Given the description of an element on the screen output the (x, y) to click on. 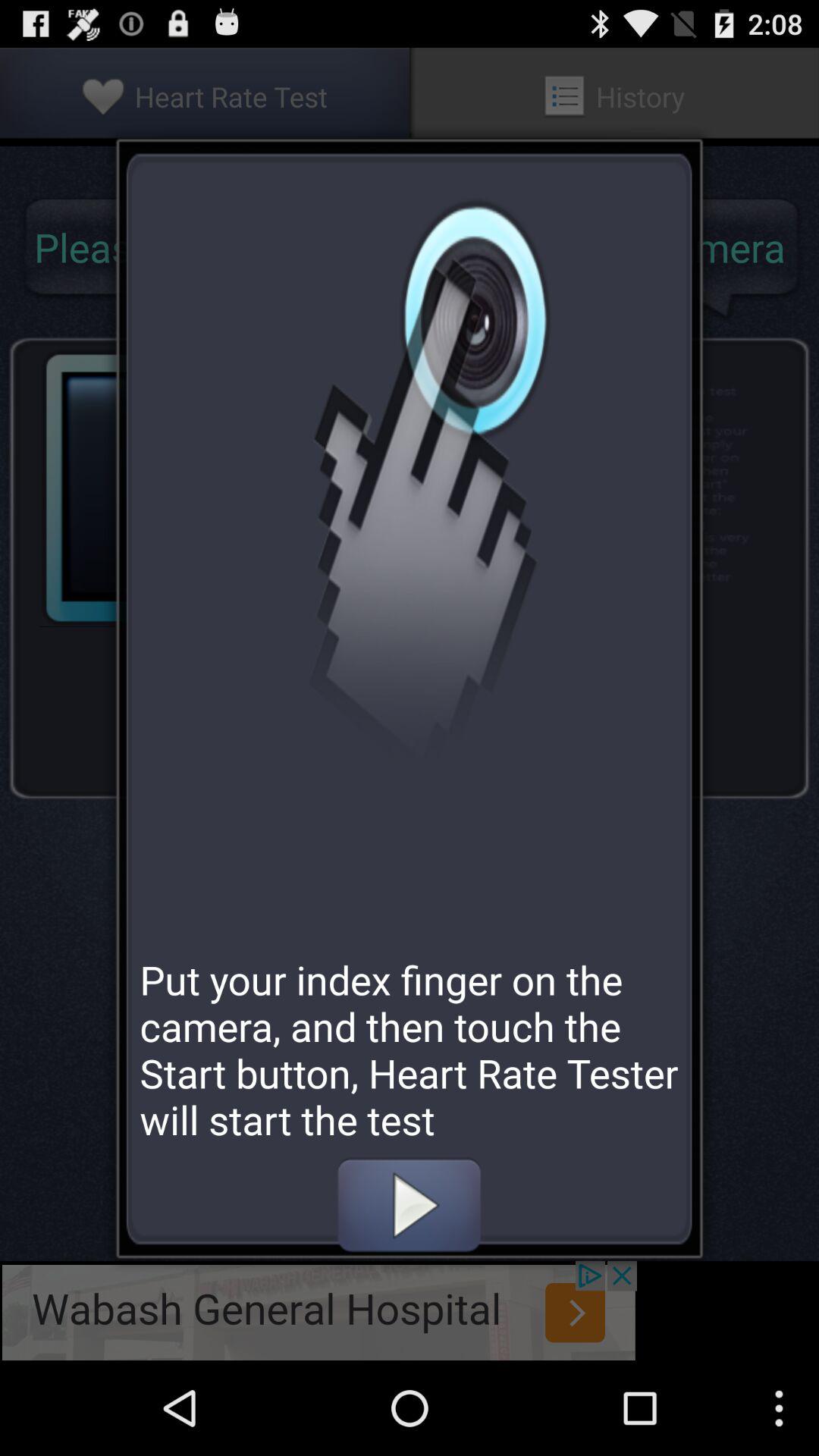
heartbeat with finger on camera (408, 1205)
